Given the description of an element on the screen output the (x, y) to click on. 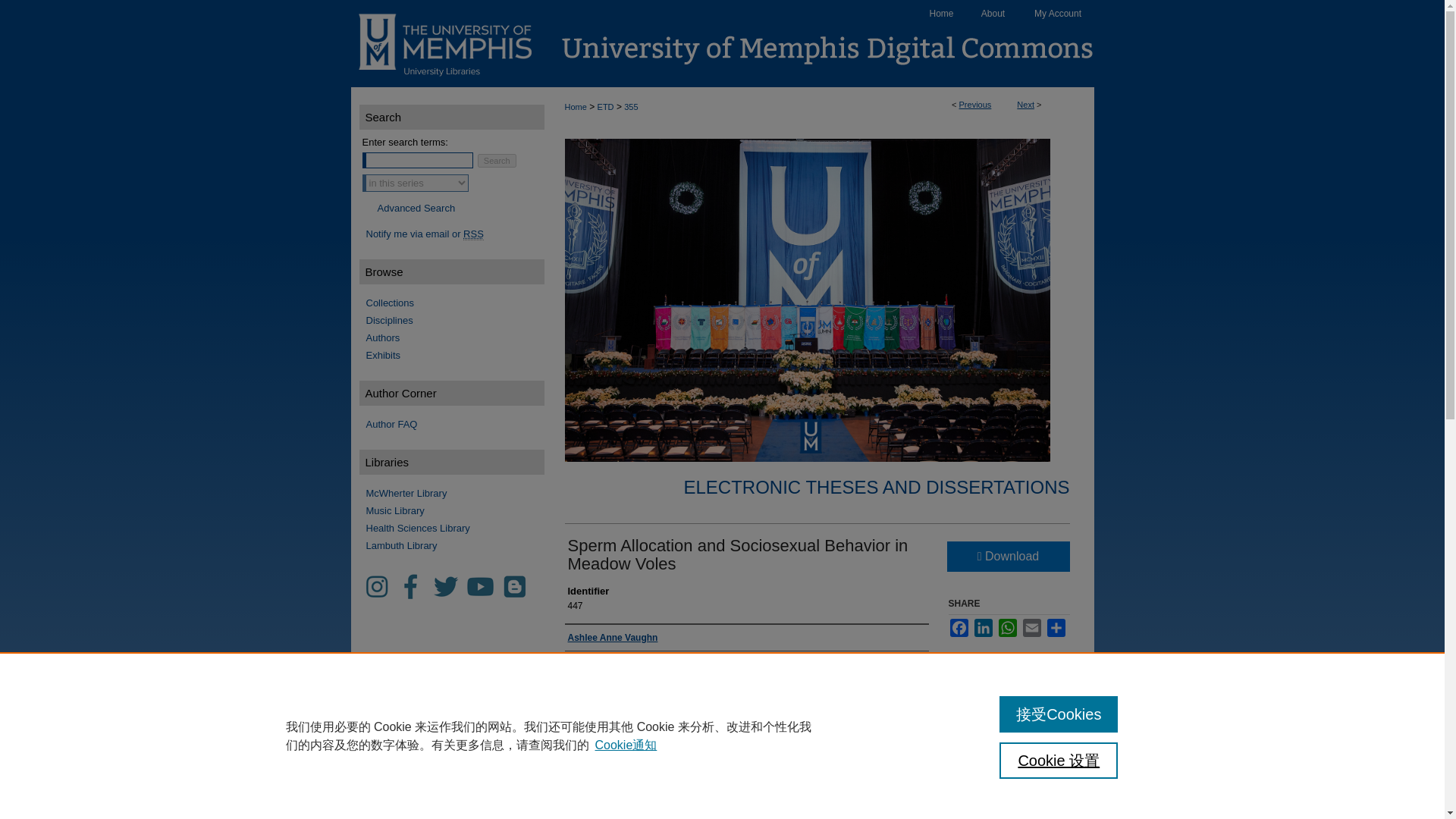
Sperm Allocation and Sociosexual Behavior in Meadow Voles (737, 554)
Next (1024, 103)
ELECTRONIC THESES AND DISSERTATIONS (877, 486)
Browse by Author (448, 337)
Email (1031, 628)
Browse by Collections (448, 302)
About (993, 13)
Browse by Disciplines (448, 319)
Home (575, 106)
Home (941, 13)
Download (1007, 556)
Exhibits (448, 355)
LinkedIn (982, 628)
Facebook (958, 628)
Advanced Search (416, 206)
